Given the description of an element on the screen output the (x, y) to click on. 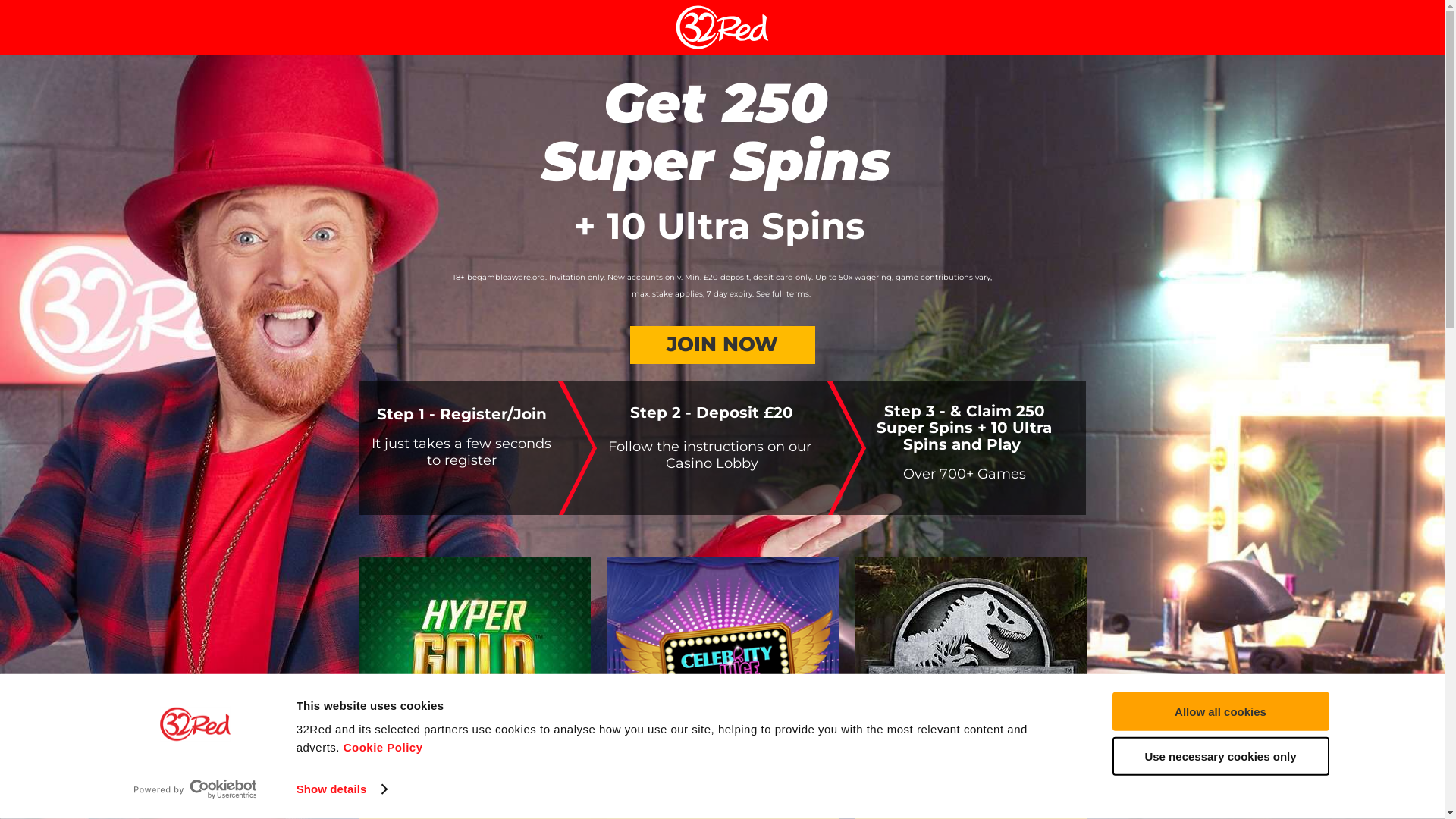
See full terms.  Element type: text (784, 292)
Cookie Policy Element type: text (383, 746)
Allow all cookies Element type: text (1219, 711)
Step 1 - Register/Join Element type: text (461, 415)
Step 3 - & Claim 250 Super Spins + 10 Ultra Spins and Play Element type: text (963, 428)
Show details Element type: text (340, 789)
JOIN NOW Element type: text (721, 345)
Use necessary cookies only Element type: text (1219, 755)
